Given the description of an element on the screen output the (x, y) to click on. 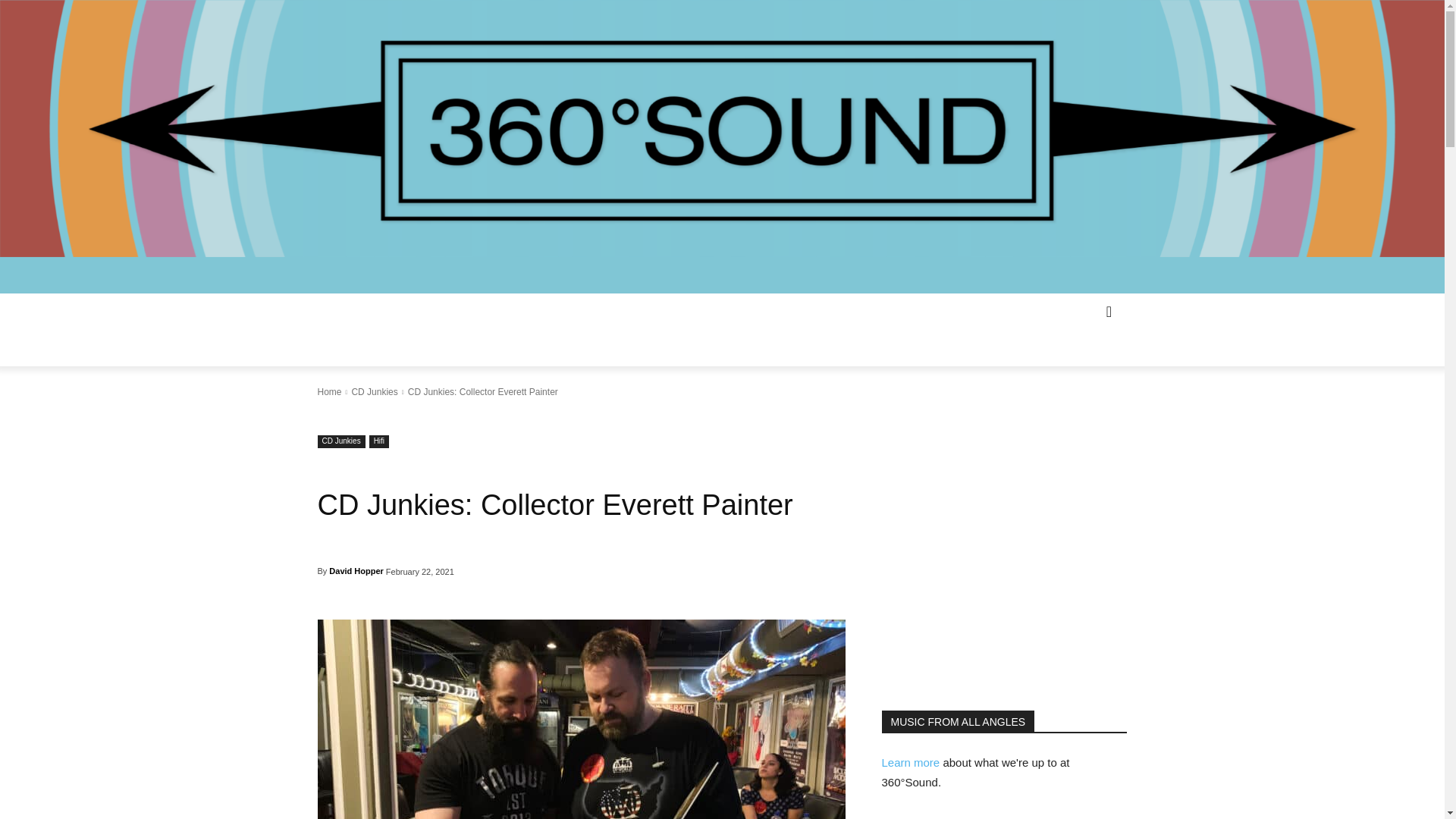
View all posts in CD Junkies (373, 391)
DT JP (580, 719)
Hifi (378, 440)
Home (328, 391)
David Hopper (356, 570)
CD Junkies (341, 440)
CD Junkies (373, 391)
